Given the description of an element on the screen output the (x, y) to click on. 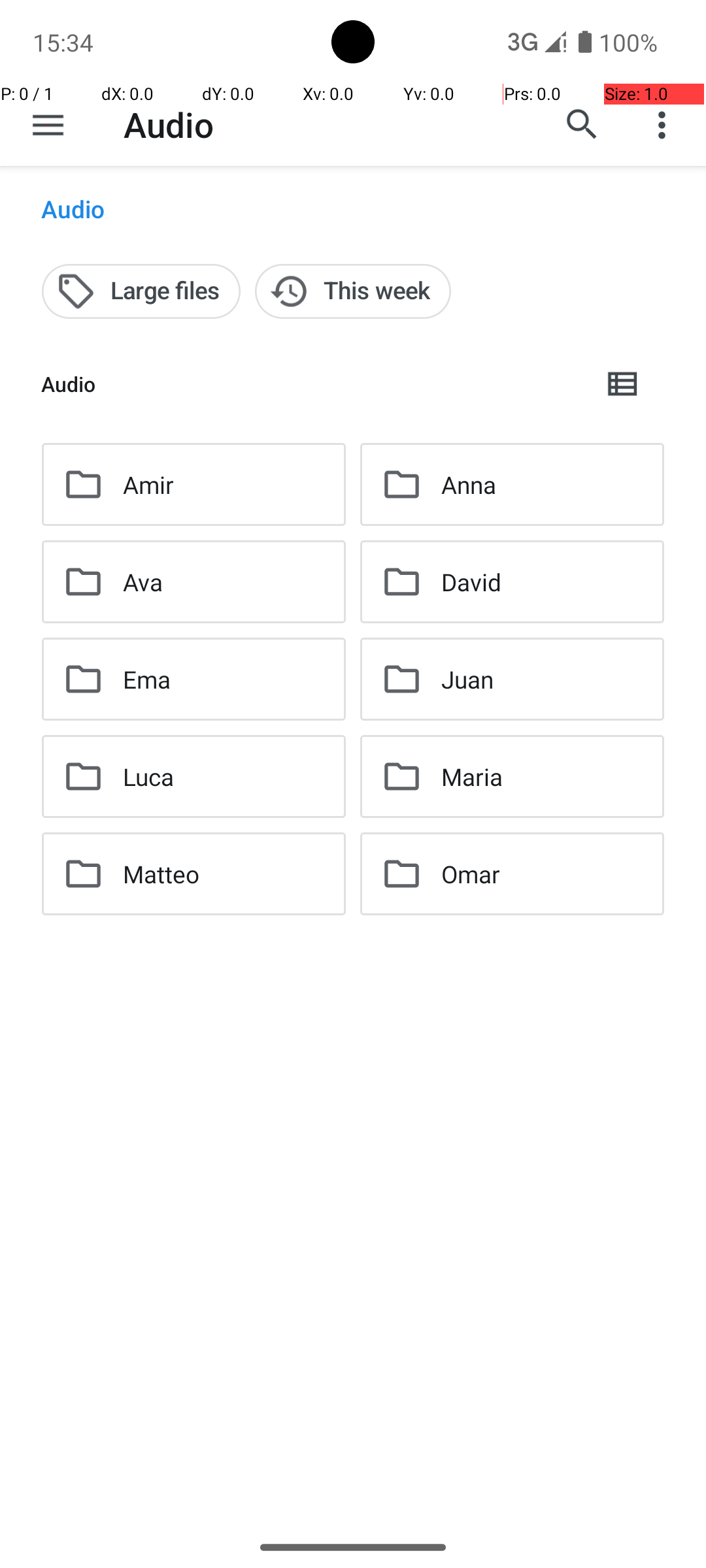
Amir Element type: android.widget.TextView (147, 484)
Anna Element type: android.widget.TextView (468, 484)
Ava Element type: android.widget.TextView (142, 581)
David Element type: android.widget.TextView (471, 581)
Ema Element type: android.widget.TextView (146, 678)
Juan Element type: android.widget.TextView (467, 678)
Luca Element type: android.widget.TextView (148, 776)
Maria Element type: android.widget.TextView (471, 776)
Matteo Element type: android.widget.TextView (160, 873)
Omar Element type: android.widget.TextView (470, 873)
